Given the description of an element on the screen output the (x, y) to click on. 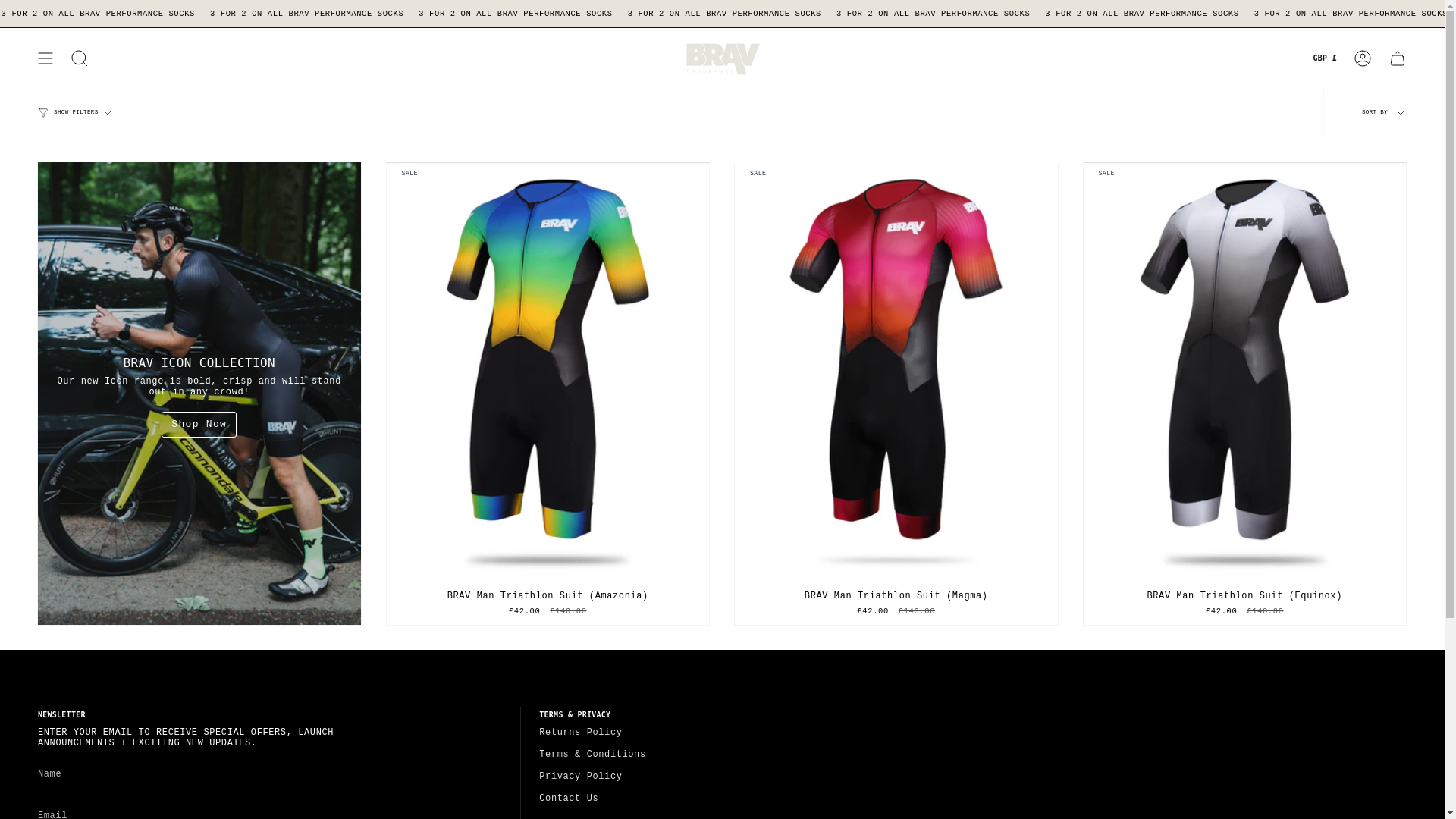
Search (79, 57)
